Given the description of an element on the screen output the (x, y) to click on. 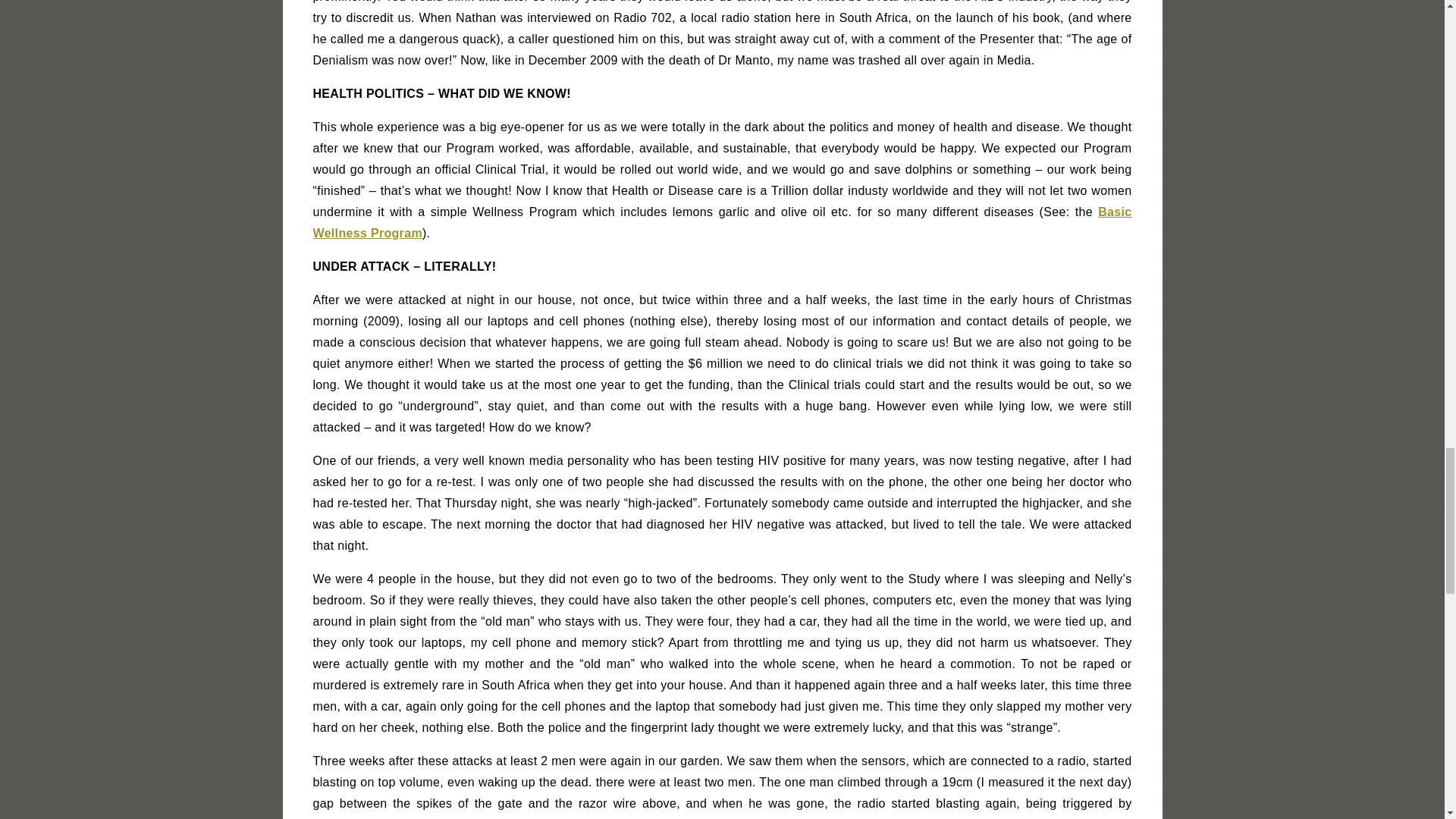
Basic Wellness Program (722, 222)
